Given the description of an element on the screen output the (x, y) to click on. 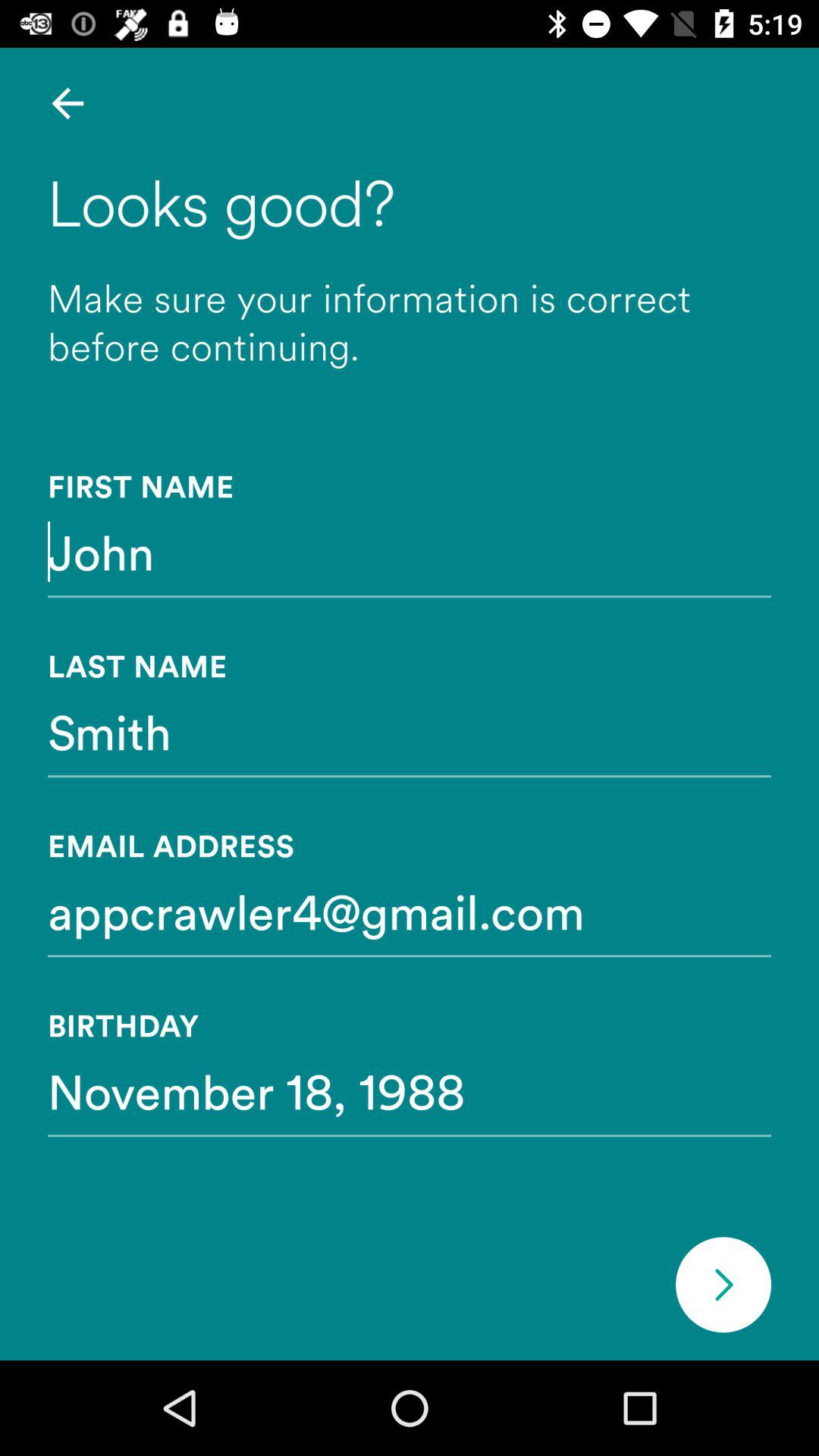
press smith item (409, 731)
